Given the description of an element on the screen output the (x, y) to click on. 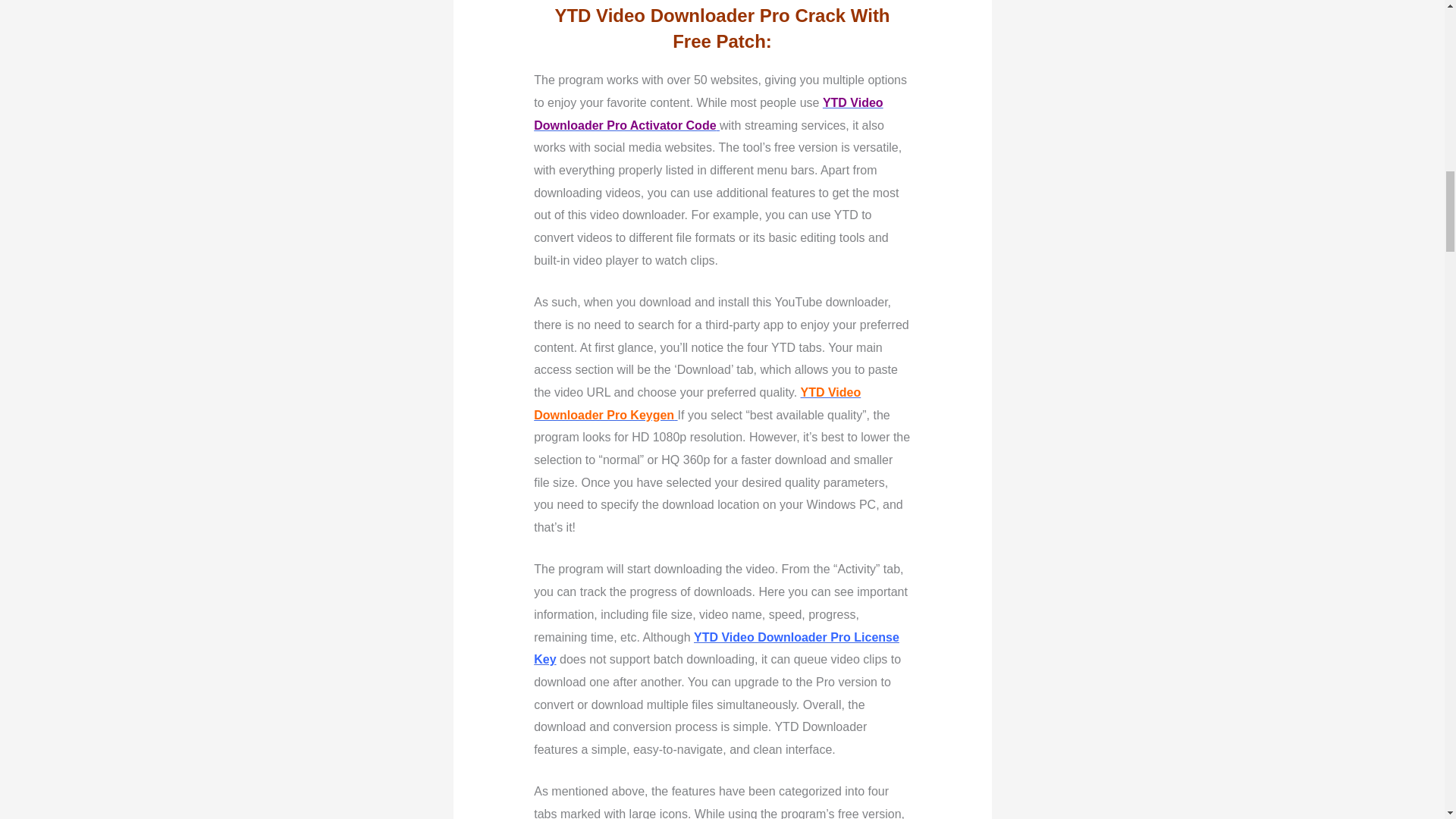
YTD Video Downloader Pro Keygen (697, 403)
YTD Video Downloader Pro Activator Code (708, 113)
YTD Video Downloader Pro License Key (716, 648)
